Given the description of an element on the screen output the (x, y) to click on. 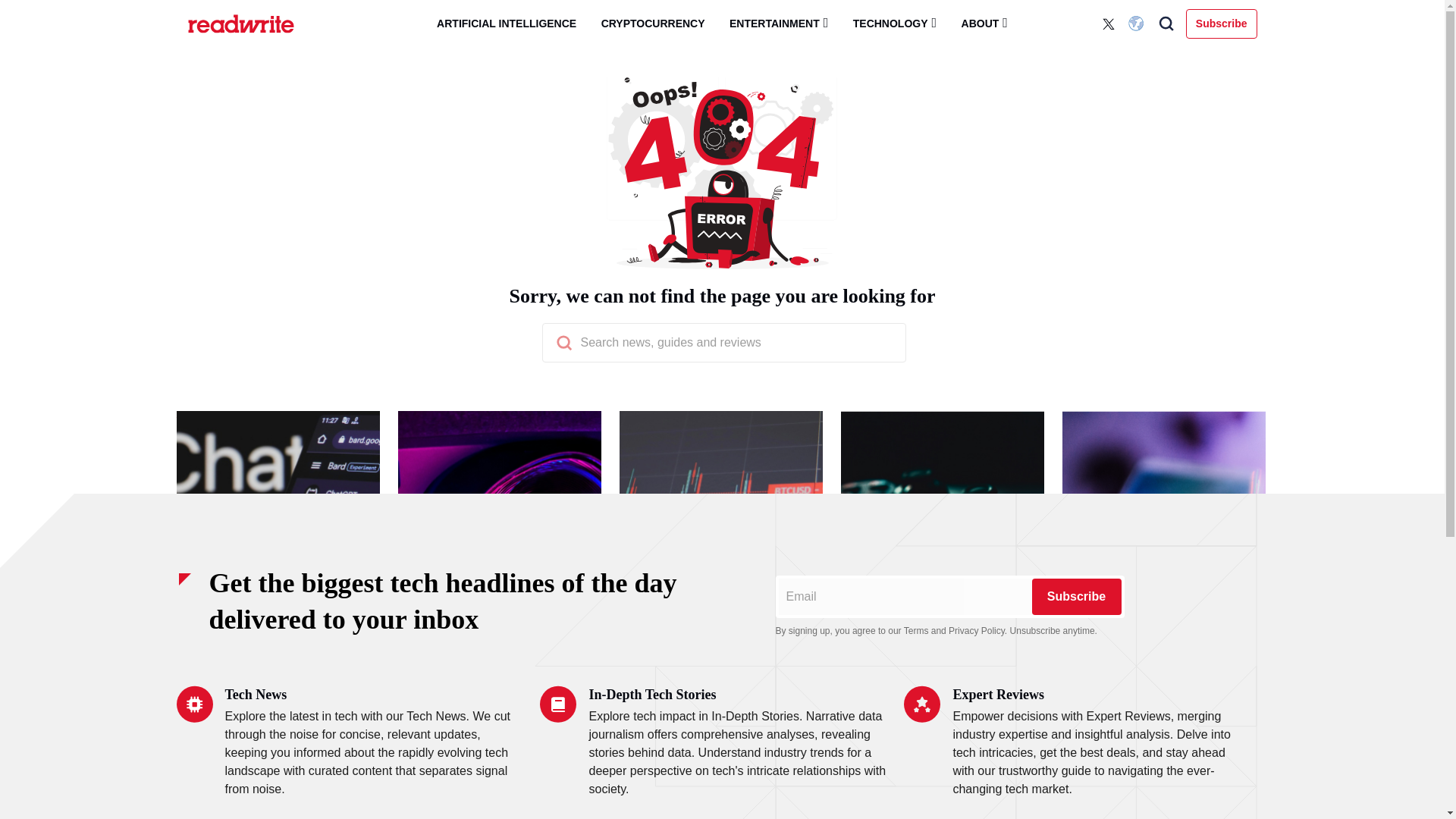
Subscribe (1221, 23)
TECHNOLOGY (895, 23)
English (1137, 23)
ABOUT (983, 23)
ARTIFICIAL INTELLIGENCE (506, 23)
ENTERTAINMENT (778, 23)
CRYPTOCURRENCY (653, 23)
Subscribe (1075, 596)
